Given the description of an element on the screen output the (x, y) to click on. 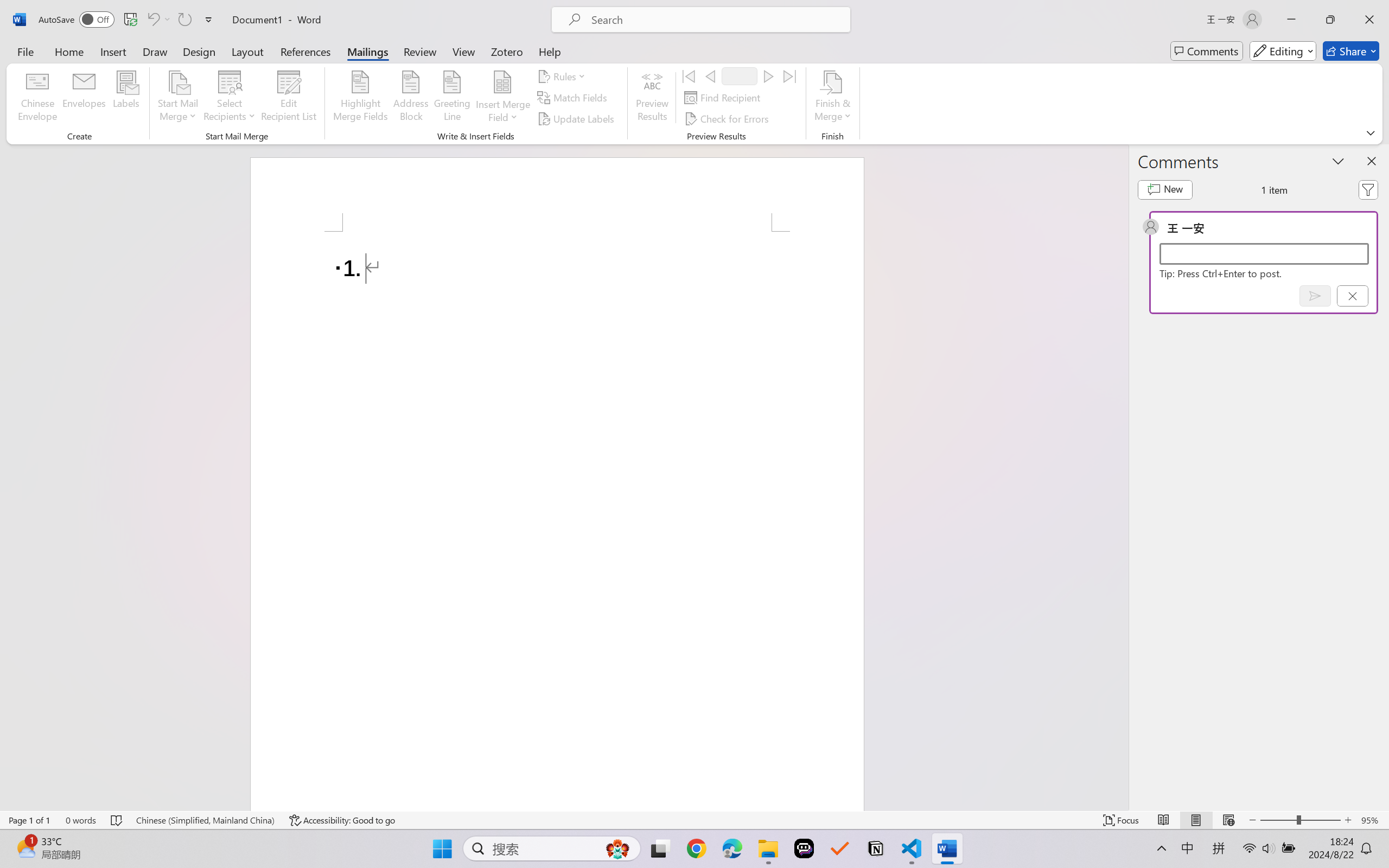
Freeform: Shape (518, 72)
Cut (39, 47)
Arrow: Down (572, 60)
AutomationID: ShapesInsertGallery (549, 60)
Align Right (360, 71)
Align Text (448, 62)
Title TextBox (884, 574)
Shapes (583, 72)
